Given the description of an element on the screen output the (x, y) to click on. 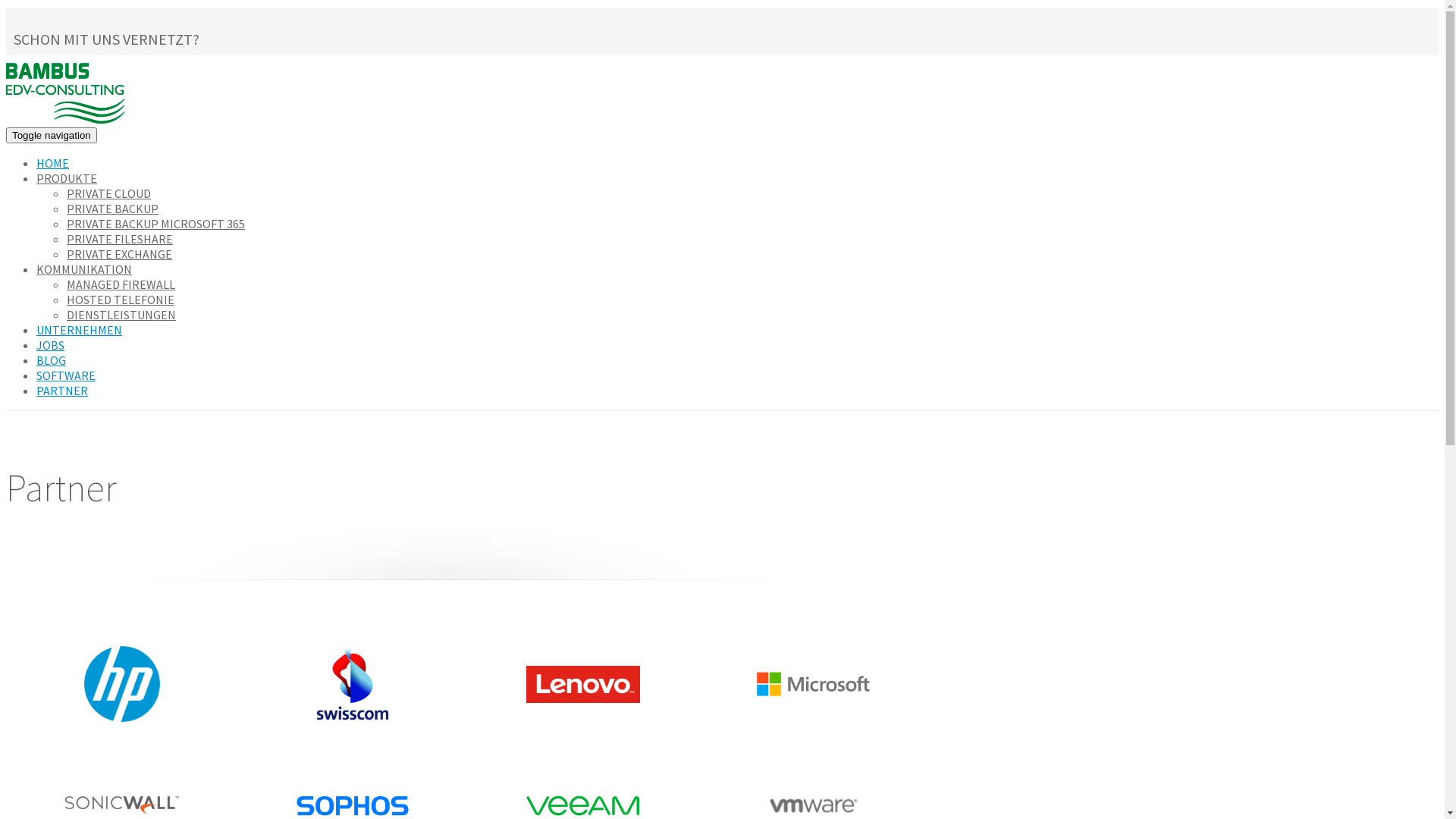
PRIVATE FILESHARE Element type: text (119, 238)
PARTNER Element type: text (61, 390)
DIENSTLEISTUNGEN Element type: text (120, 314)
PRIVATE BACKUP MICROSOFT 365 Element type: text (155, 223)
PRIVATE BACKUP Element type: text (112, 208)
HOME Element type: text (52, 162)
PRODUKTE Element type: text (66, 177)
JOBS Element type: text (50, 344)
PRIVATE EXCHANGE Element type: text (119, 253)
MANAGED FIREWALL Element type: text (120, 283)
PRIVATE CLOUD Element type: text (108, 192)
KOMMUNIKATION Element type: text (83, 268)
BLOG Element type: text (50, 359)
UNTERNEHMEN Element type: text (79, 329)
HOSTED TELEFONIE Element type: text (120, 299)
SOFTWARE Element type: text (65, 374)
Toggle navigation Element type: text (51, 135)
